Given the description of an element on the screen output the (x, y) to click on. 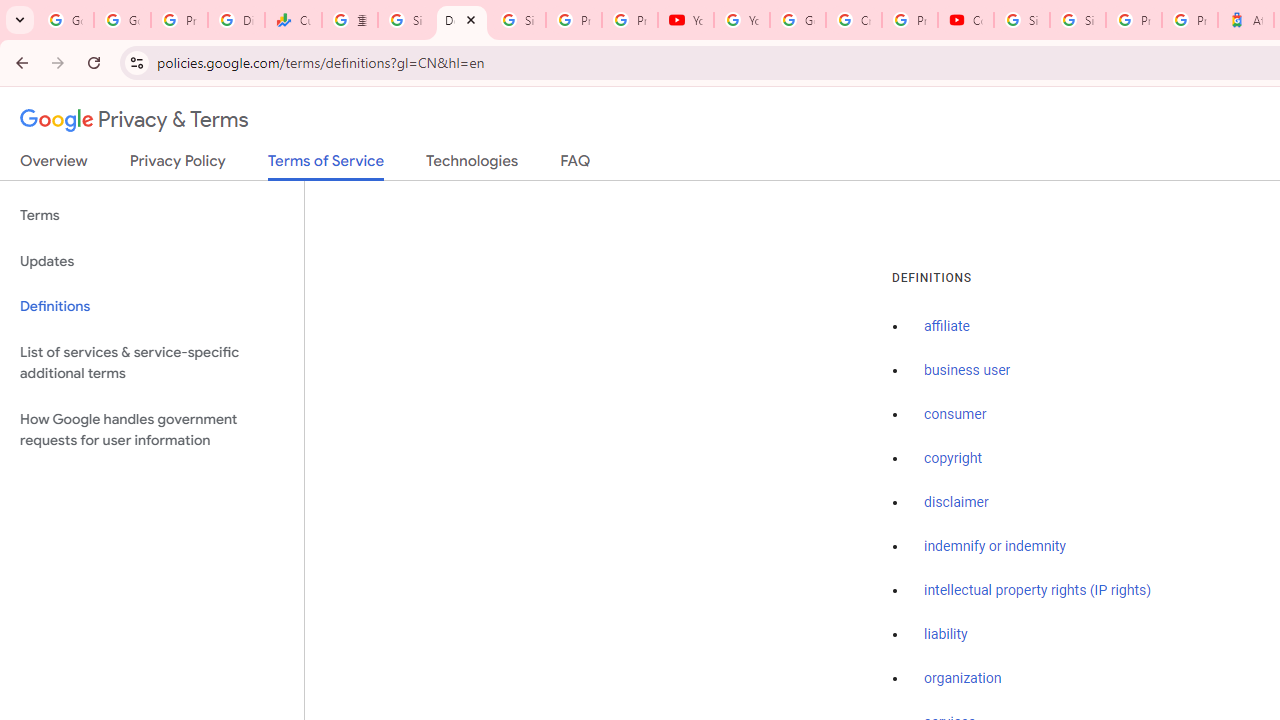
Privacy Checkup (629, 20)
YouTube (685, 20)
Updates (152, 261)
organization (963, 679)
disclaimer (956, 502)
intellectual property rights (IP rights) (1038, 590)
Currencies - Google Finance (293, 20)
YouTube (742, 20)
Sign in - Google Accounts (405, 20)
